Given the description of an element on the screen output the (x, y) to click on. 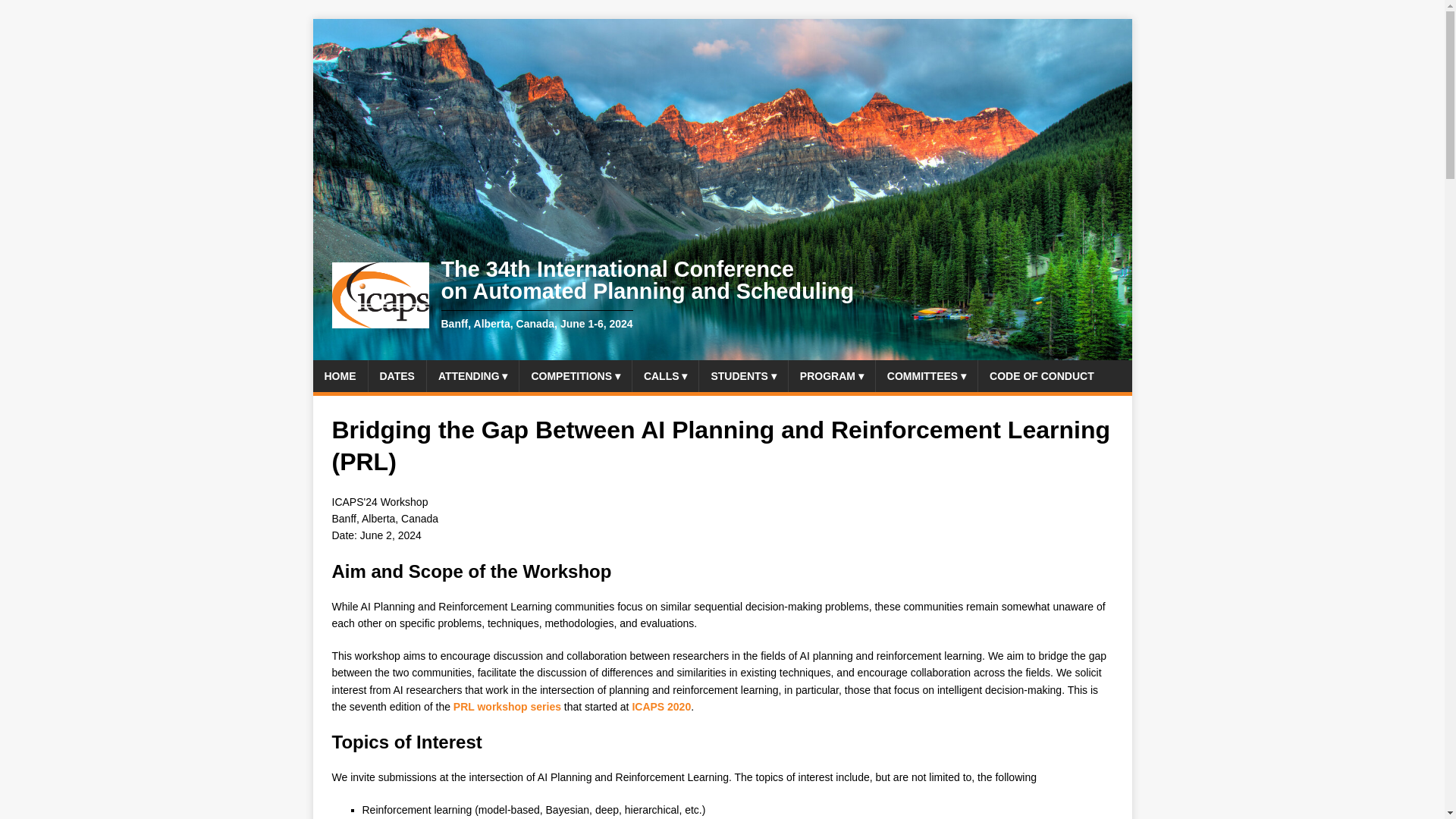
DATES (397, 376)
HOME (339, 376)
The 34th International Conference (598, 295)
